Given the description of an element on the screen output the (x, y) to click on. 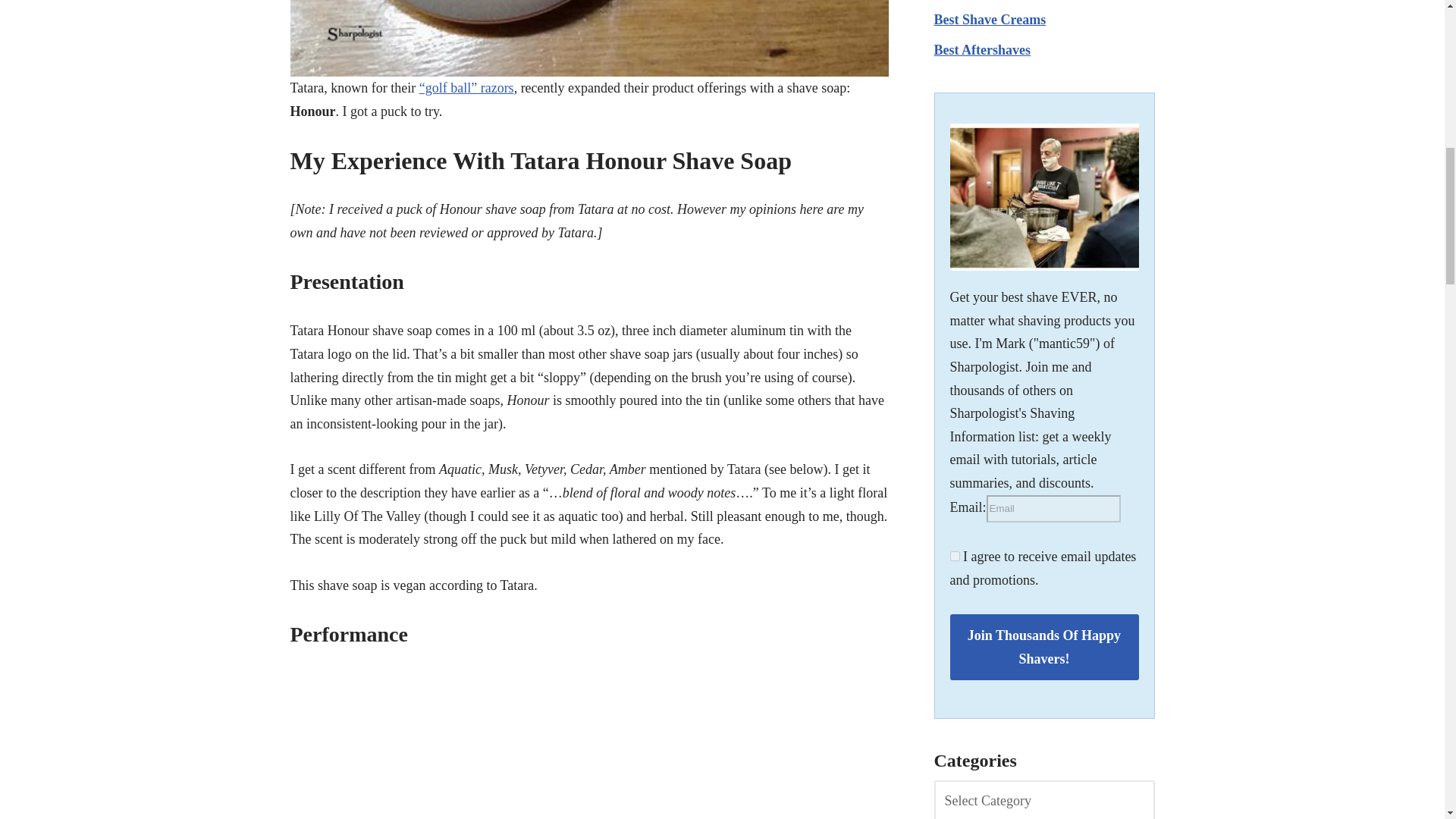
1 (954, 556)
